Given the description of an element on the screen output the (x, y) to click on. 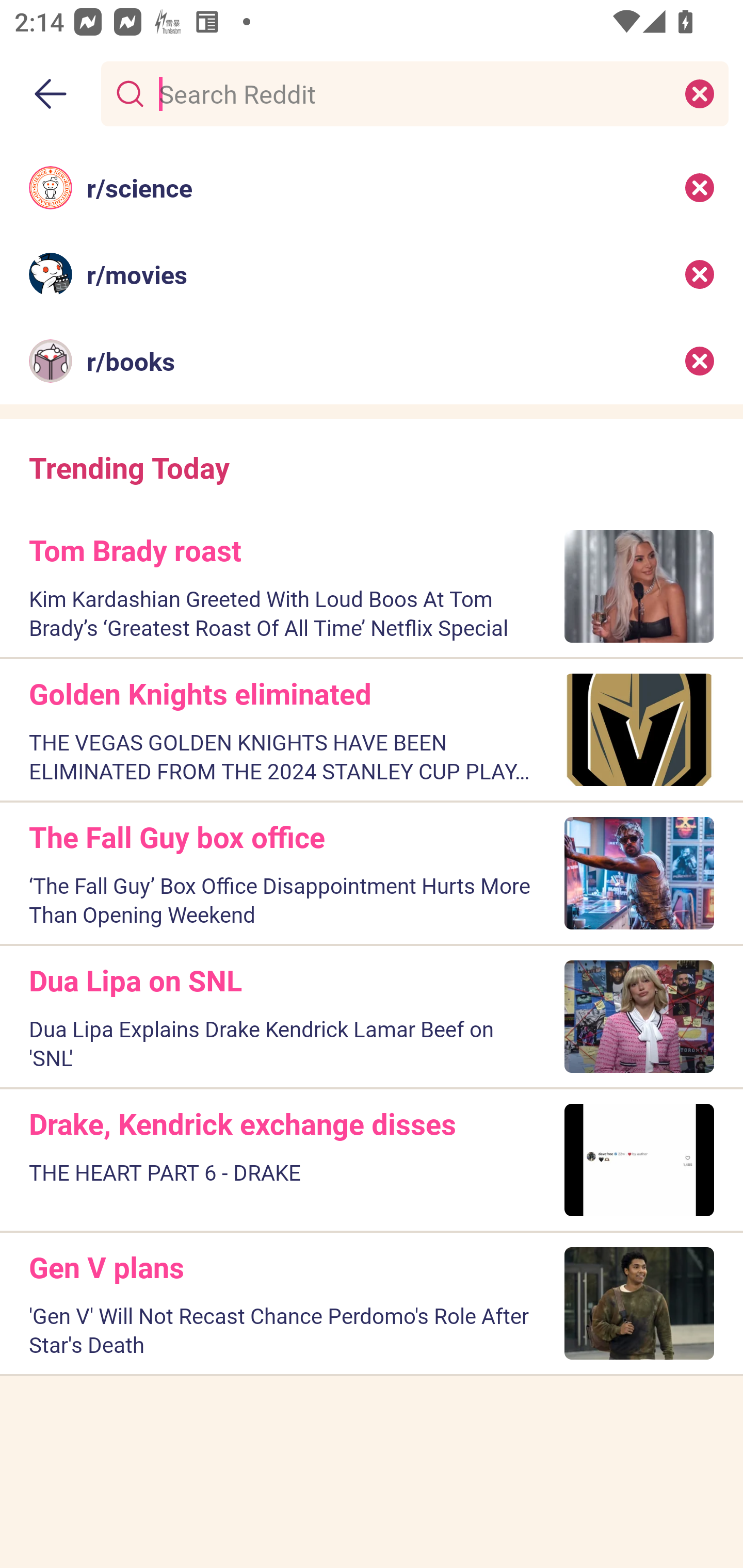
Back (50, 93)
Search Reddit (410, 93)
Clear search (699, 93)
r/science Recent search: r/science Remove (371, 187)
Remove (699, 187)
r/movies Recent search: r/movies Remove (371, 274)
Remove (699, 274)
r/books Recent search: r/books Remove (371, 361)
Remove (699, 361)
